Given the description of an element on the screen output the (x, y) to click on. 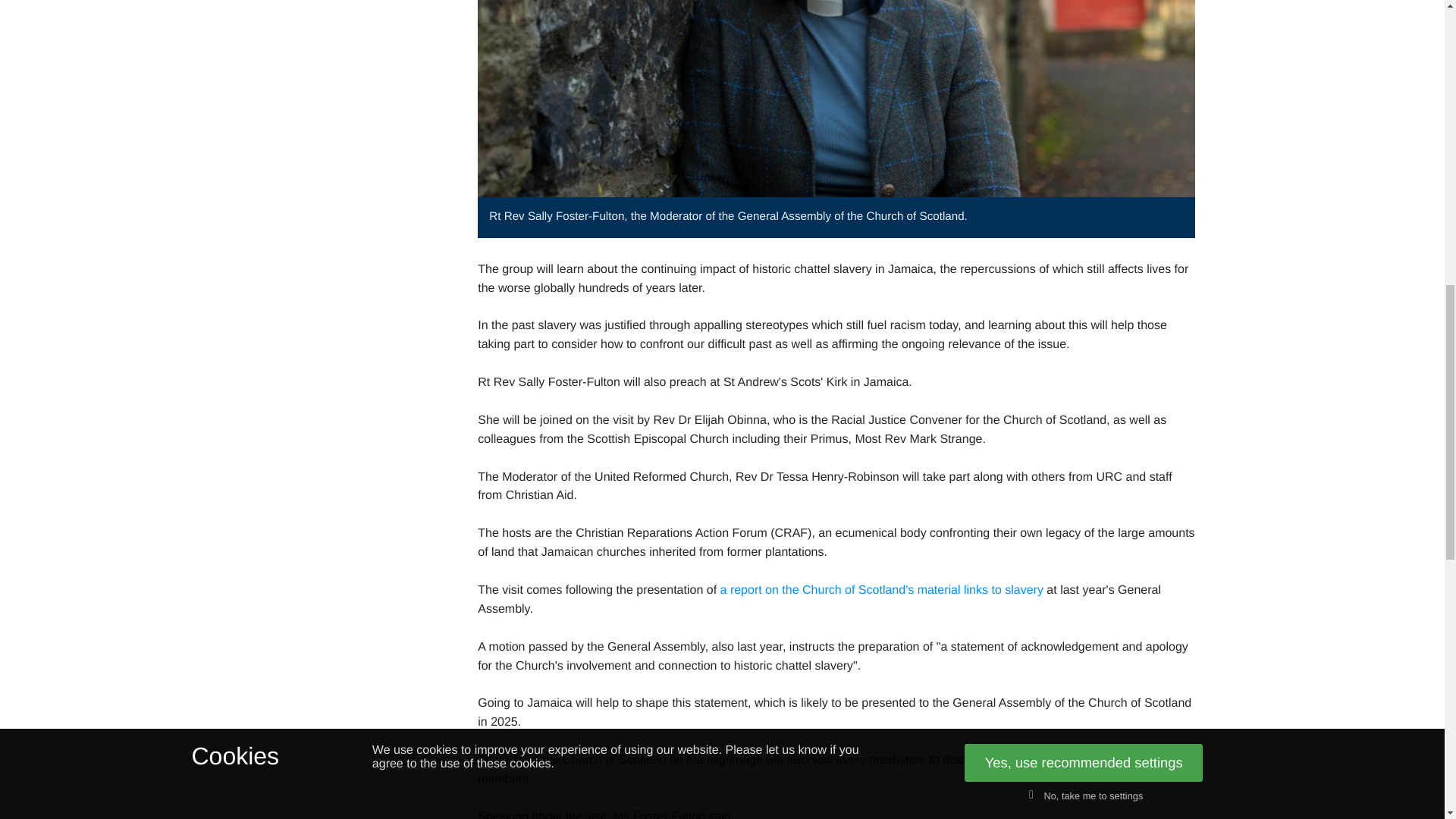
Material links to slavery (881, 590)
